Given the description of an element on the screen output the (x, y) to click on. 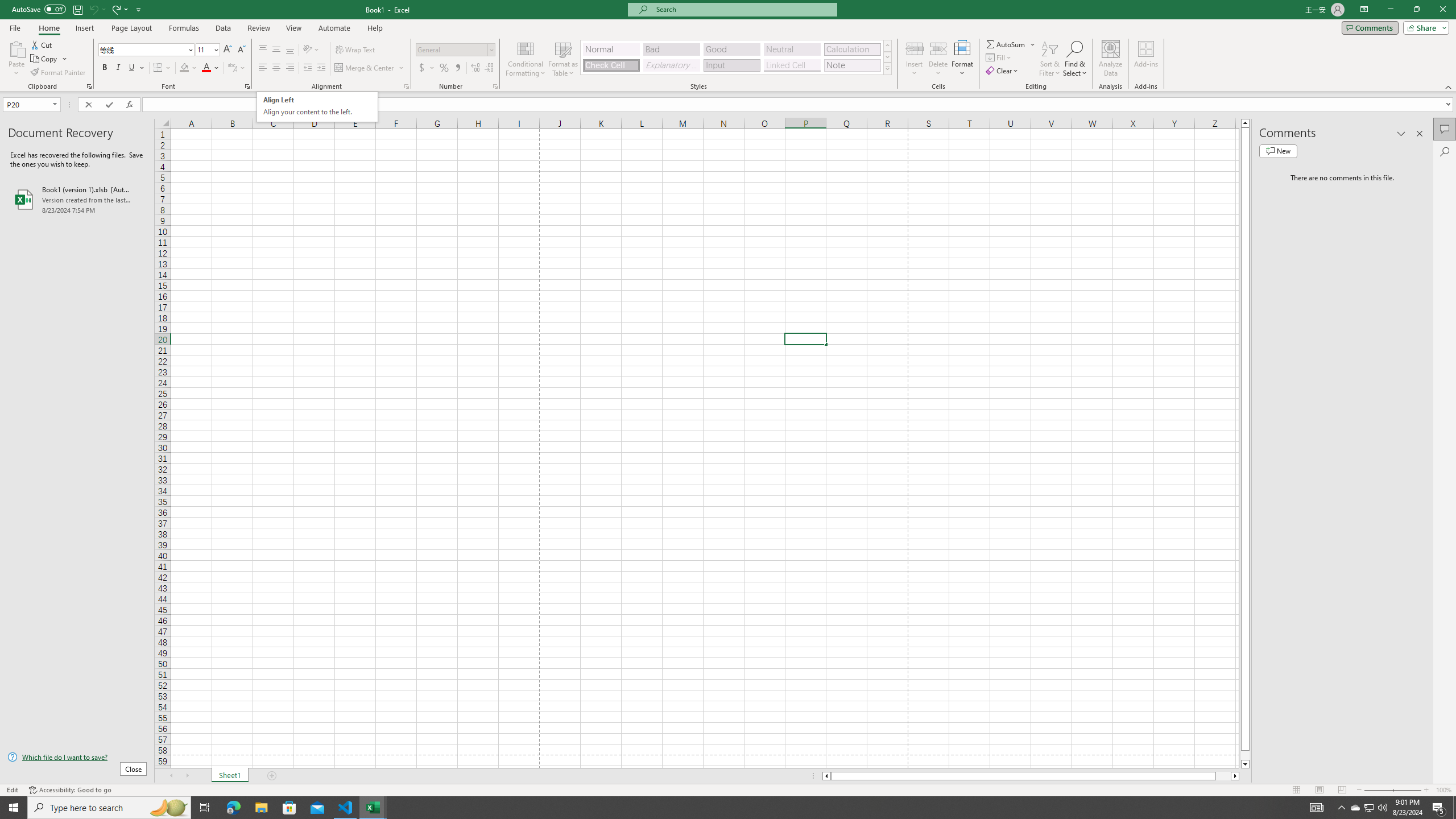
Format Painter (58, 72)
Delete Cells... (938, 48)
Fill Color (188, 67)
